Given the description of an element on the screen output the (x, y) to click on. 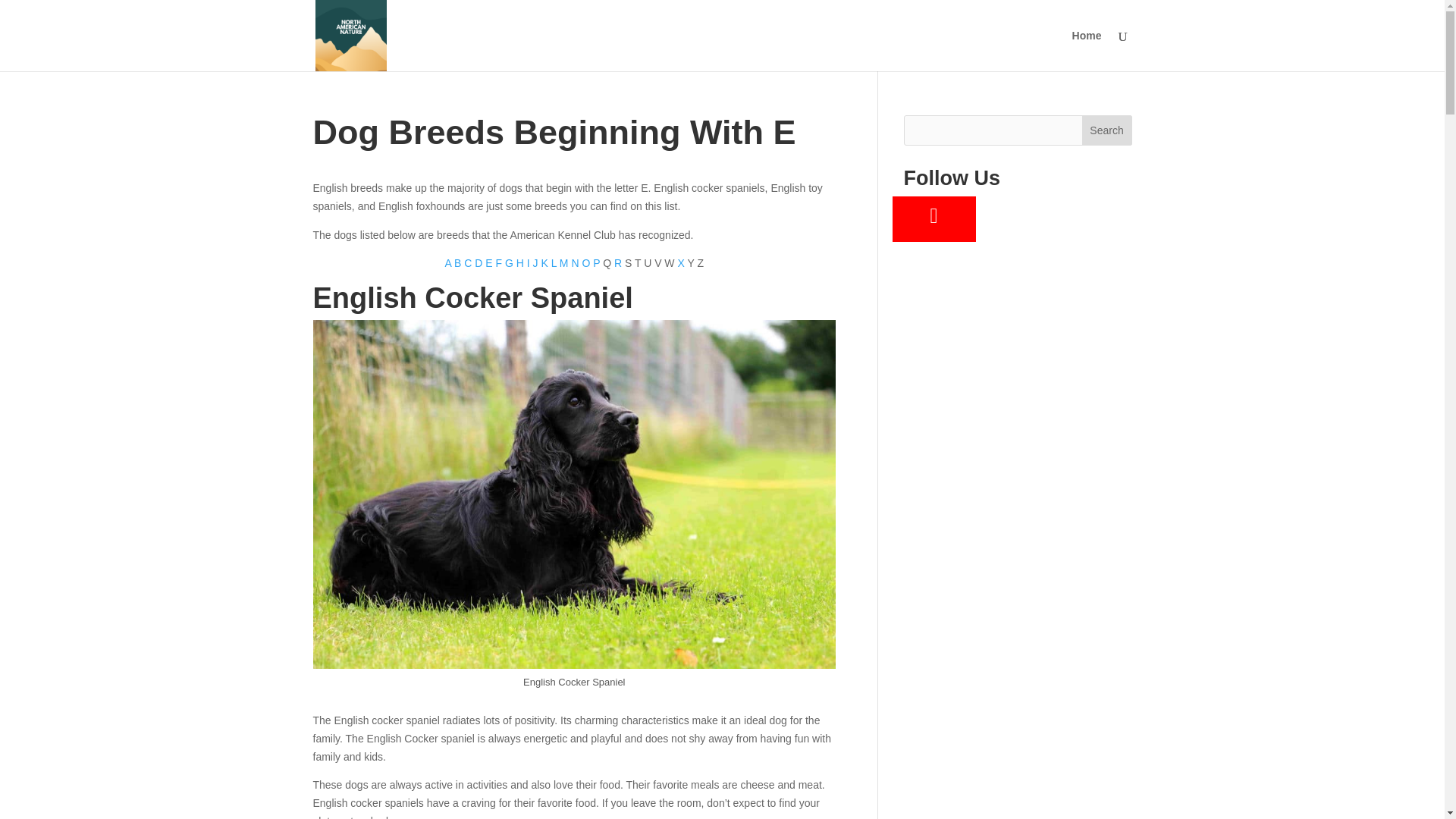
M (565, 263)
G (510, 263)
